Given the description of an element on the screen output the (x, y) to click on. 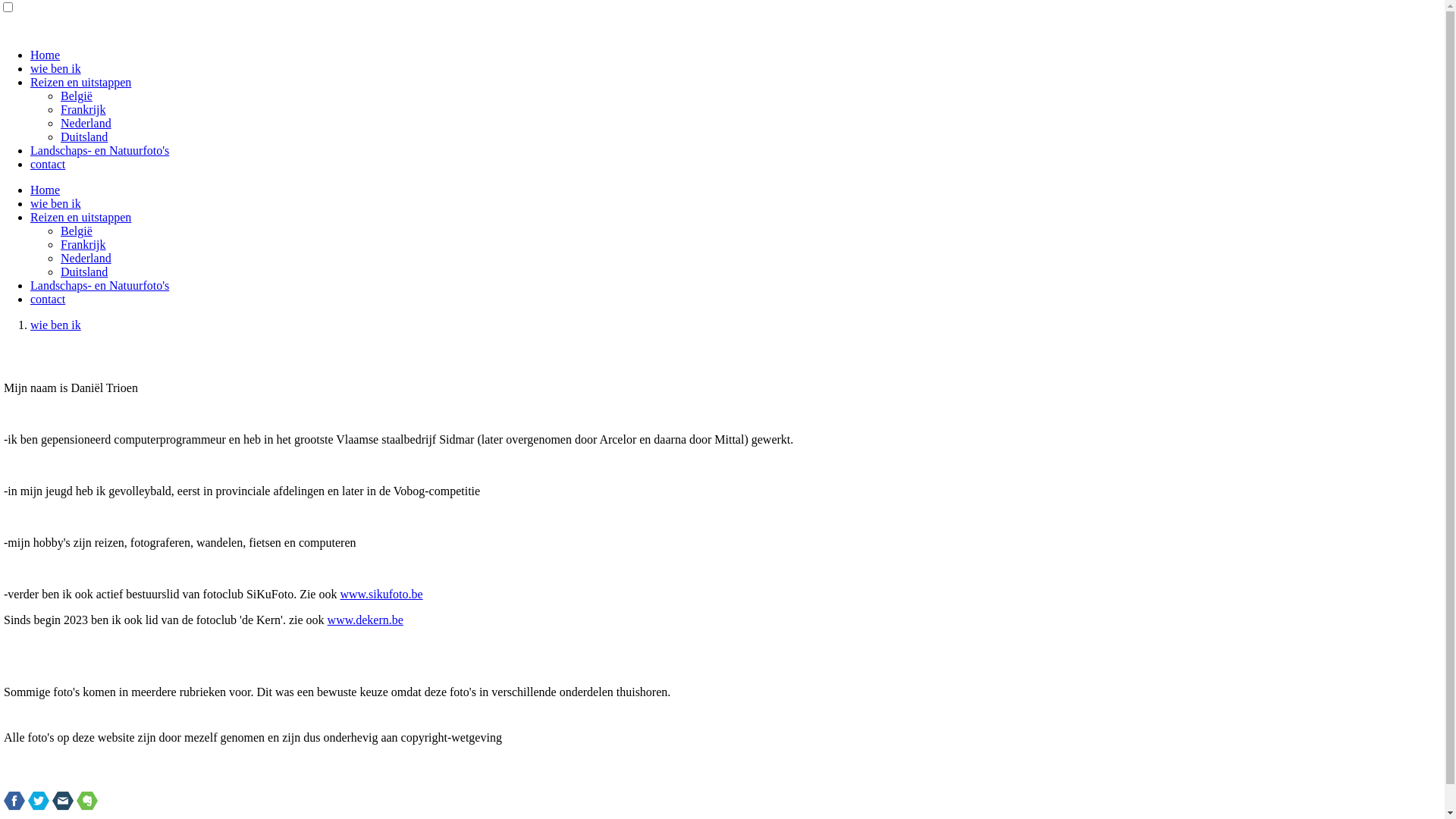
Nederland Element type: text (85, 257)
www.sikufoto.be Element type: text (380, 593)
Evernote Element type: hover (86, 800)
Reizen en uitstappen Element type: text (80, 216)
Frankrijk Element type: text (83, 244)
wie ben ik Element type: text (55, 324)
wie ben ik Element type: text (55, 68)
Twitter Element type: hover (38, 800)
Home Element type: text (44, 189)
E-mail Element type: hover (62, 800)
Landschaps- en Natuurfoto's Element type: text (99, 150)
Home Element type: text (44, 54)
Duitsland Element type: text (83, 271)
contact Element type: text (47, 163)
Reizen en uitstappen Element type: text (80, 81)
Nederland Element type: text (85, 122)
www.dekern.be Element type: text (365, 619)
wie ben ik Element type: text (55, 203)
Duitsland Element type: text (83, 136)
Landschaps- en Natuurfoto's Element type: text (99, 285)
Facebook Element type: hover (14, 800)
Frankrijk Element type: text (83, 109)
contact Element type: text (47, 298)
